Given the description of an element on the screen output the (x, y) to click on. 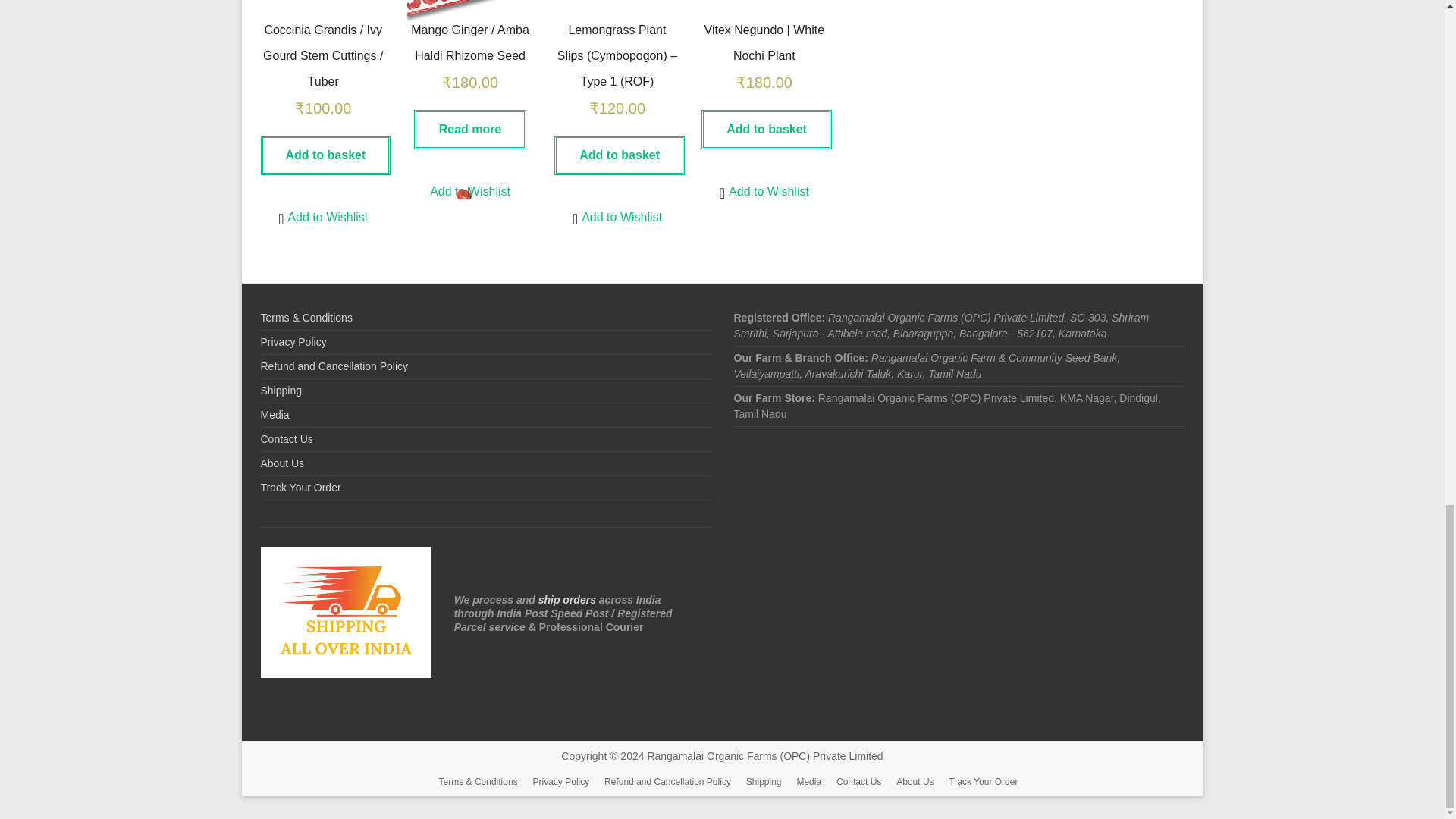
Google Map (959, 521)
